Given the description of an element on the screen output the (x, y) to click on. 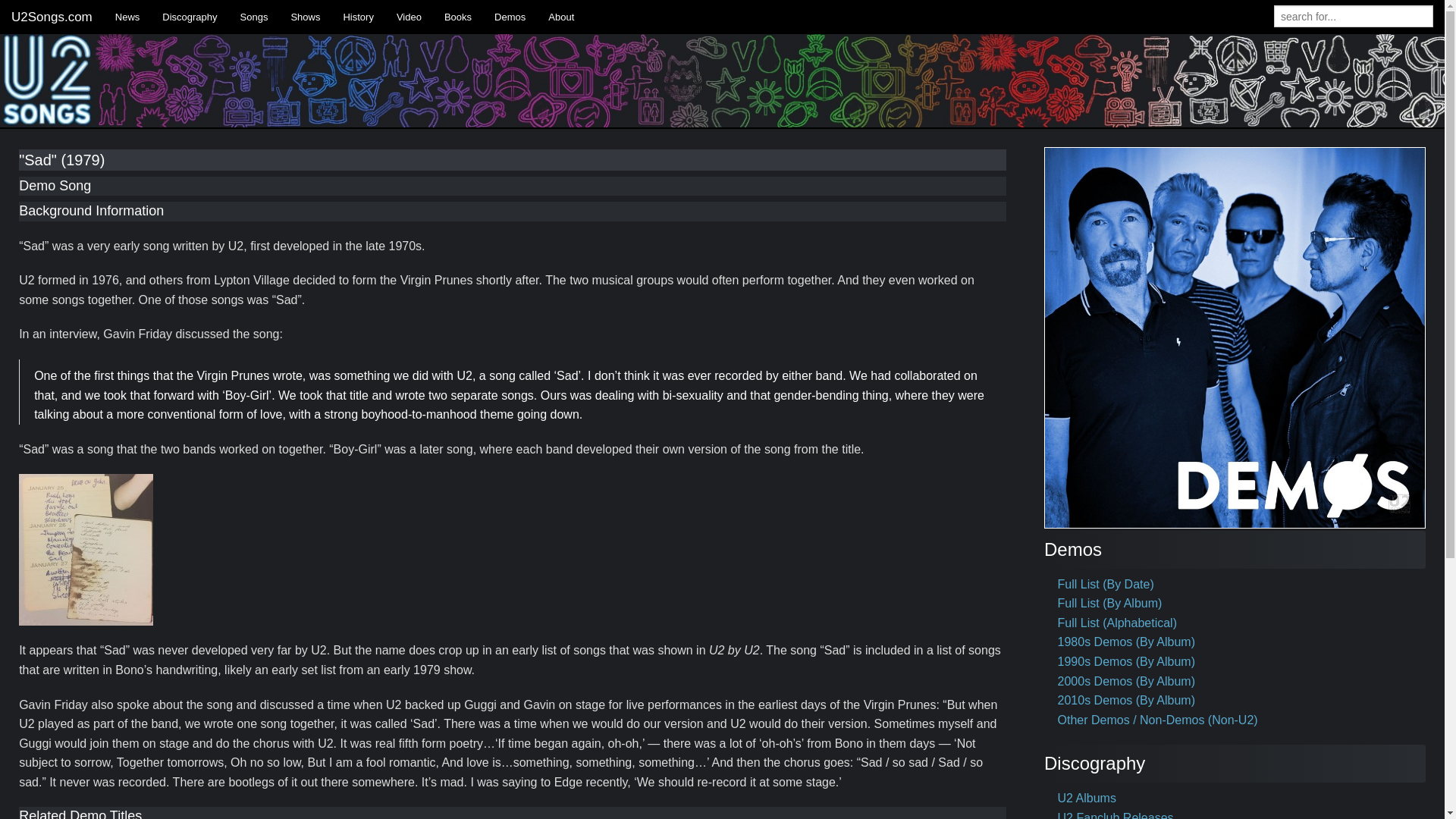
Shows (305, 17)
Discography (189, 17)
U2Songs.com (51, 17)
News (127, 17)
Video (408, 17)
Books (457, 17)
History (357, 17)
Demos (510, 17)
Songs (253, 17)
U2 Albums (1087, 797)
